Given the description of an element on the screen output the (x, y) to click on. 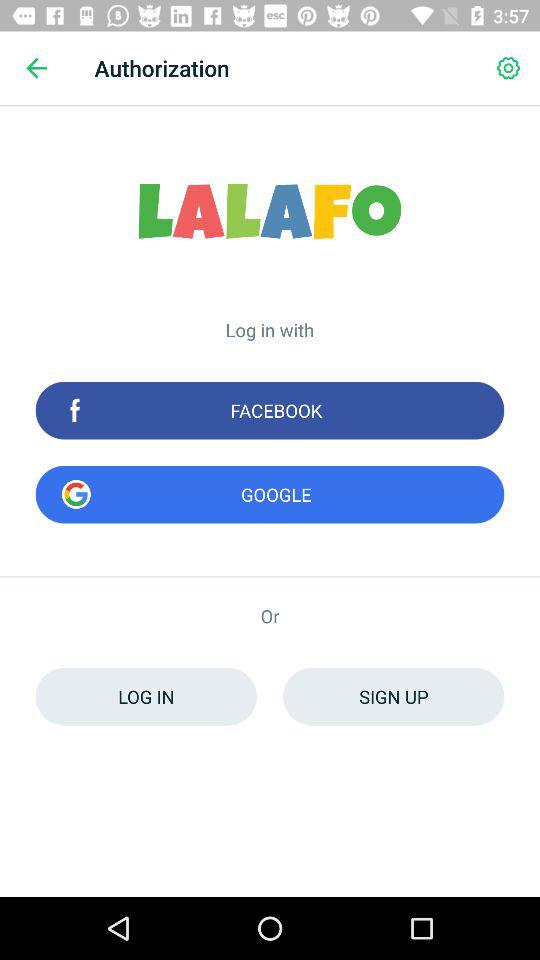
open the icon to the right of log in (393, 696)
